Given the description of an element on the screen output the (x, y) to click on. 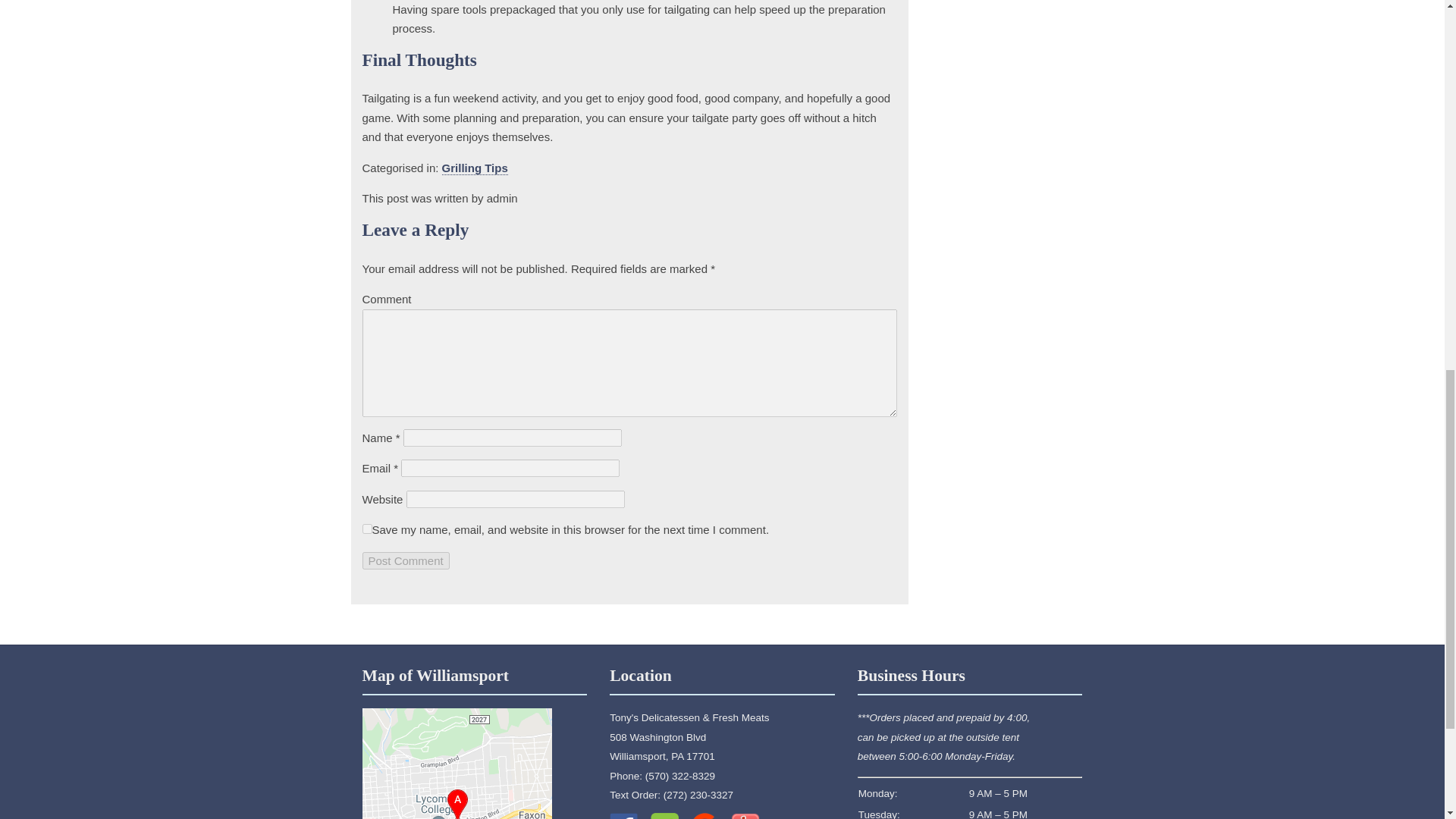
yes (367, 528)
Post Comment (405, 560)
Grilling Tips (475, 168)
Post Comment (405, 560)
